Given the description of an element on the screen output the (x, y) to click on. 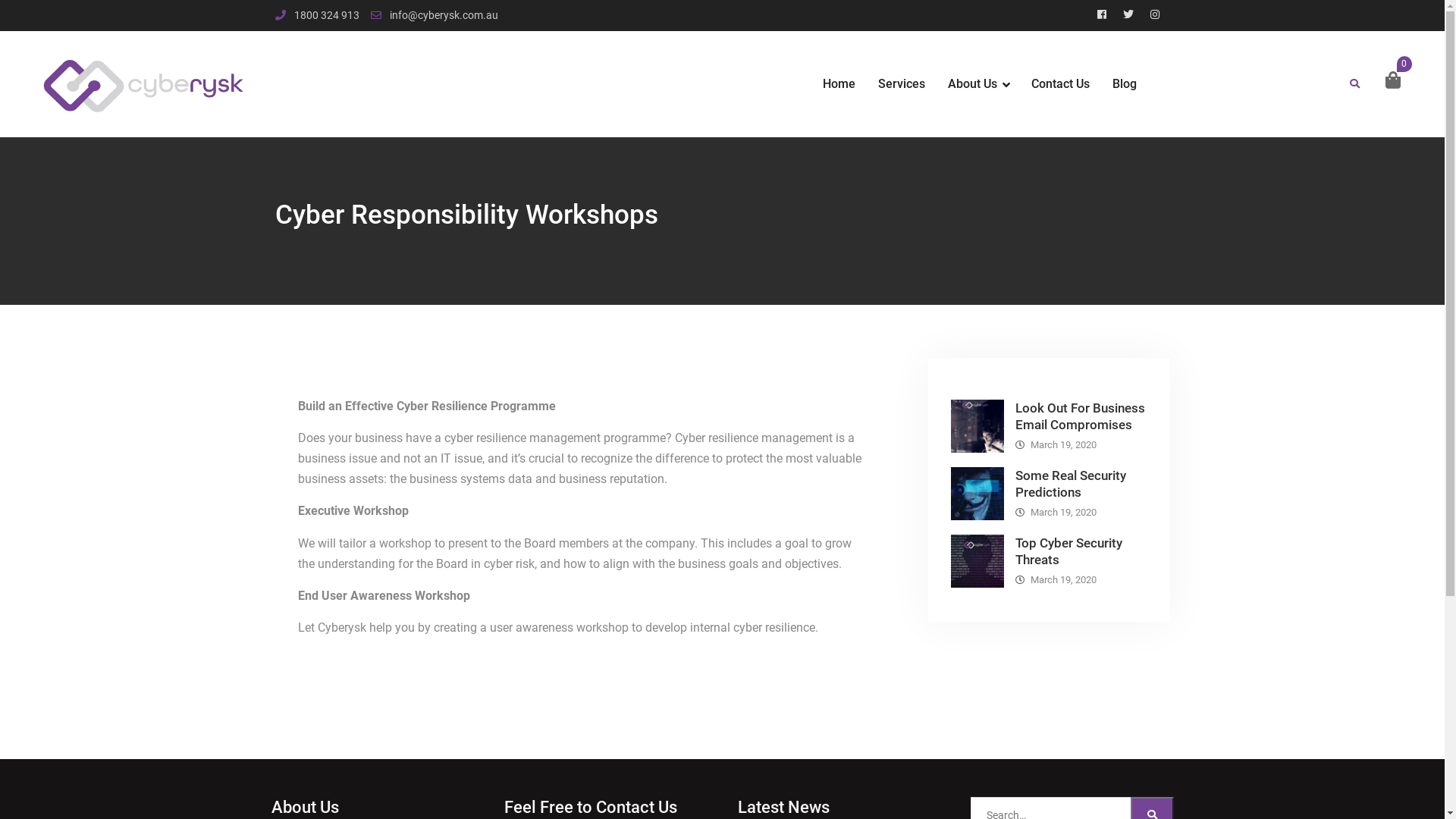
Home Element type: text (838, 84)
Look Out For Business Email Compromises Element type: text (1079, 416)
info@cyberysk.com.au Element type: text (443, 15)
Blog Element type: text (1124, 84)
Services Element type: text (901, 84)
Top Cyber Security Threats Element type: text (1067, 551)
Facebook Element type: text (1101, 14)
1800 324 913 Element type: text (326, 15)
Some Real Security Predictions Element type: text (1069, 483)
Instagram Element type: text (1154, 14)
About Us Element type: text (977, 84)
Contact Us Element type: text (1060, 84)
Twitter Element type: text (1127, 14)
0 Element type: text (1392, 80)
